Given the description of an element on the screen output the (x, y) to click on. 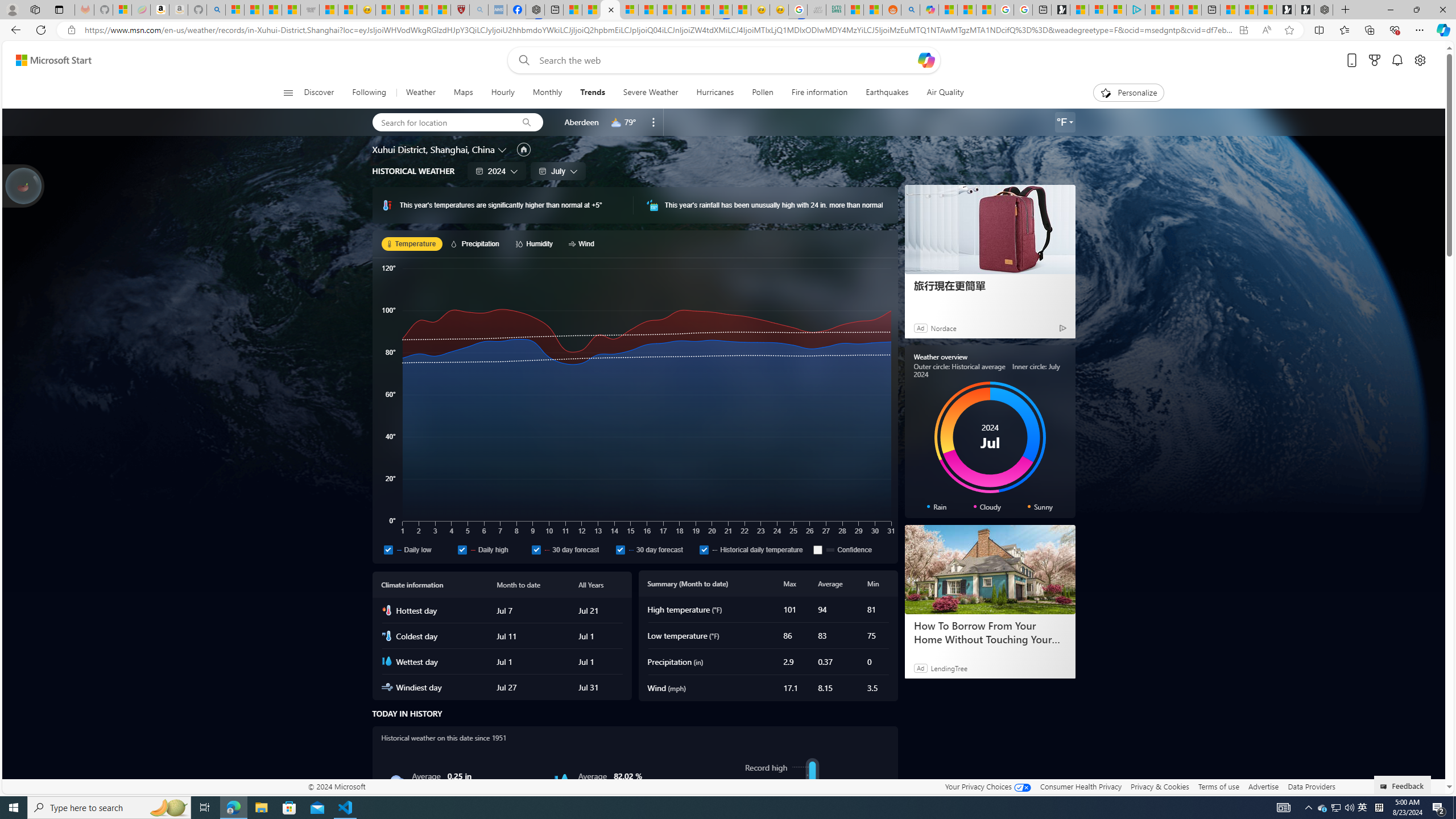
Robert H. Shmerling, MD - Harvard Health (459, 9)
Search for location (440, 122)
Fire information (818, 92)
Hurricanes (714, 92)
Consumer Health Privacy (1080, 786)
Change location (503, 149)
